Given the description of an element on the screen output the (x, y) to click on. 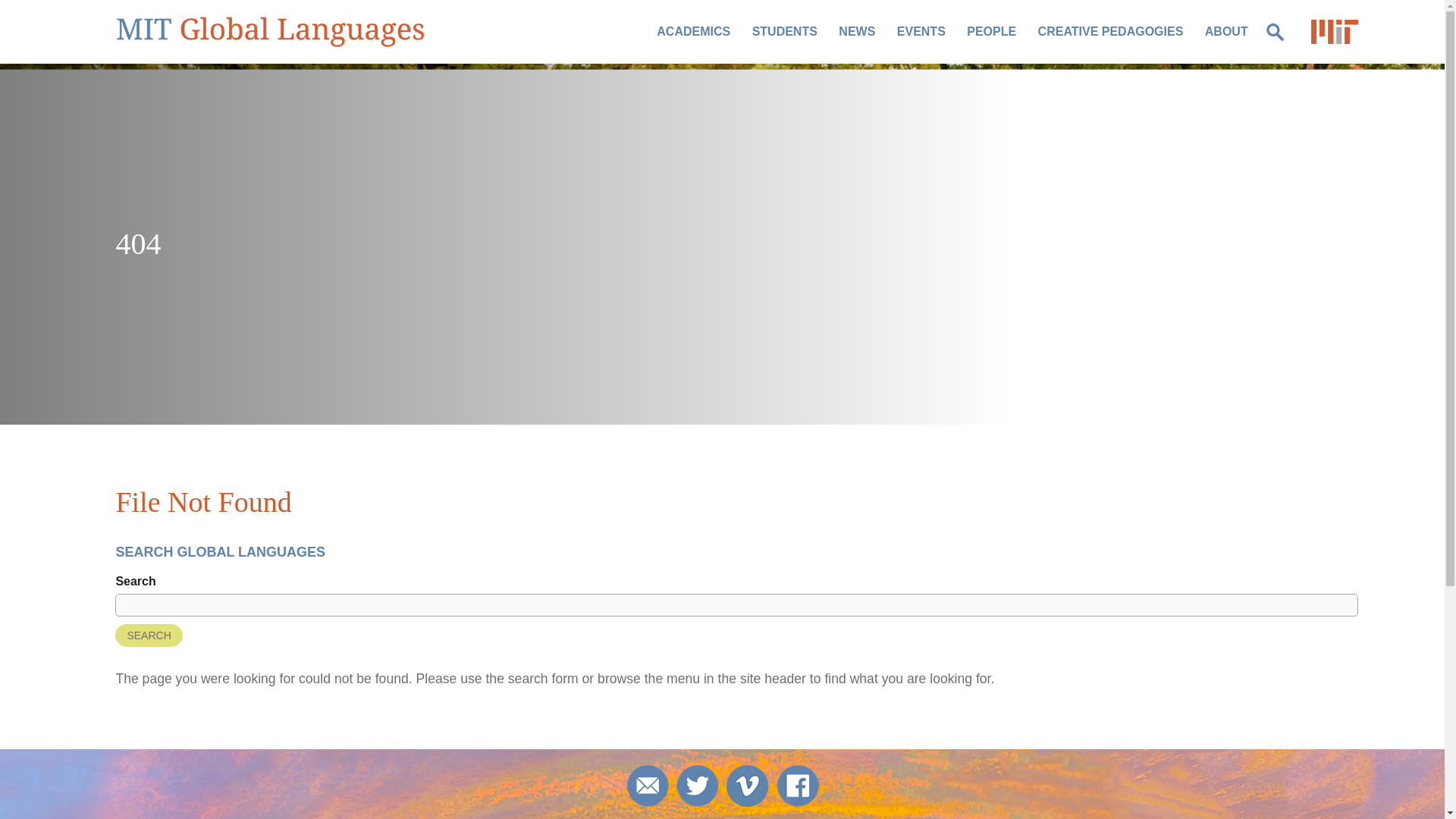
STUDENTS (784, 31)
Global Languages (270, 31)
Home (270, 31)
Search (148, 635)
ACADEMICS (693, 31)
